Given the description of an element on the screen output the (x, y) to click on. 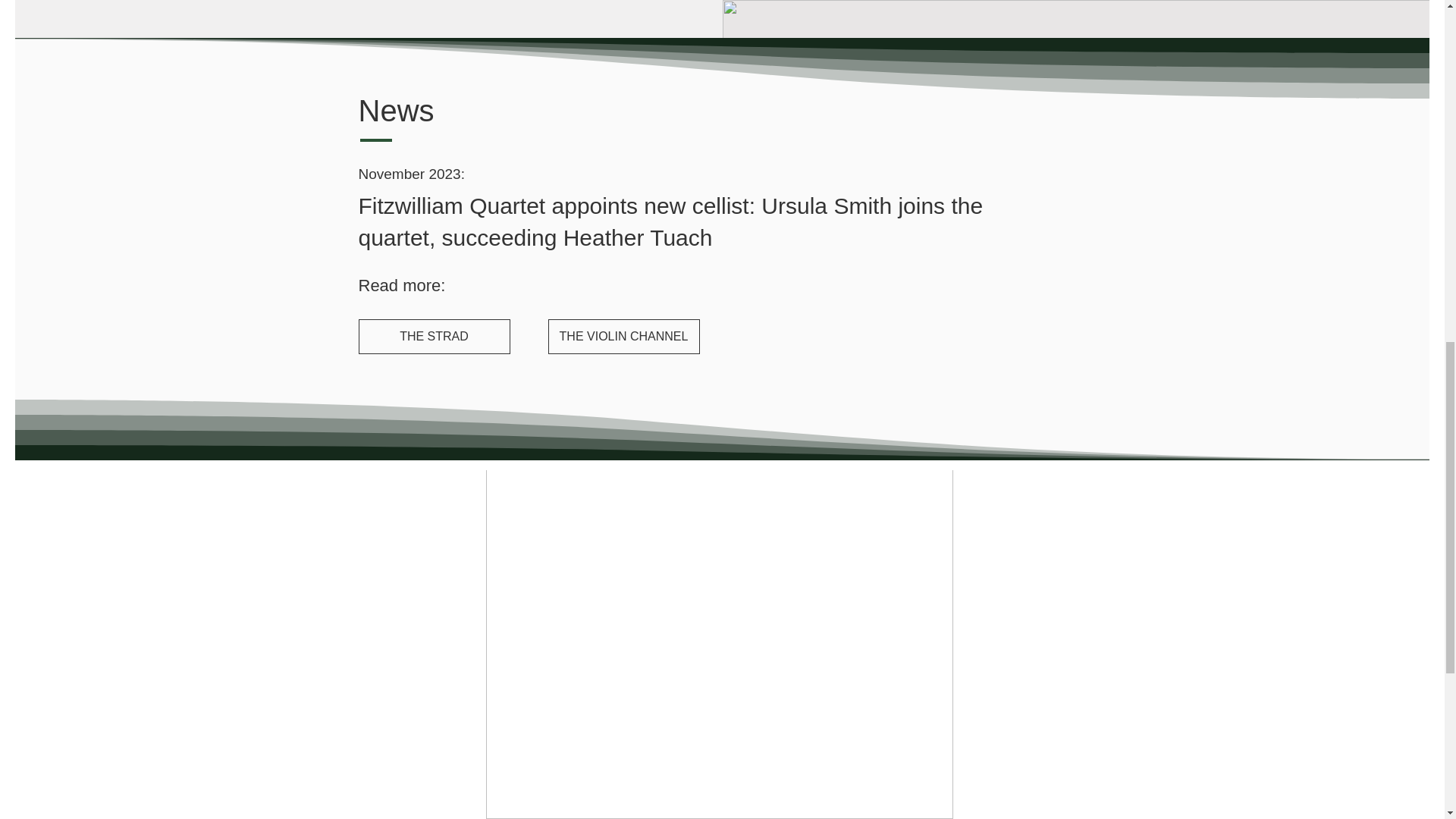
THE VIOLIN CHANNEL (622, 336)
THE STRAD (433, 336)
